Given the description of an element on the screen output the (x, y) to click on. 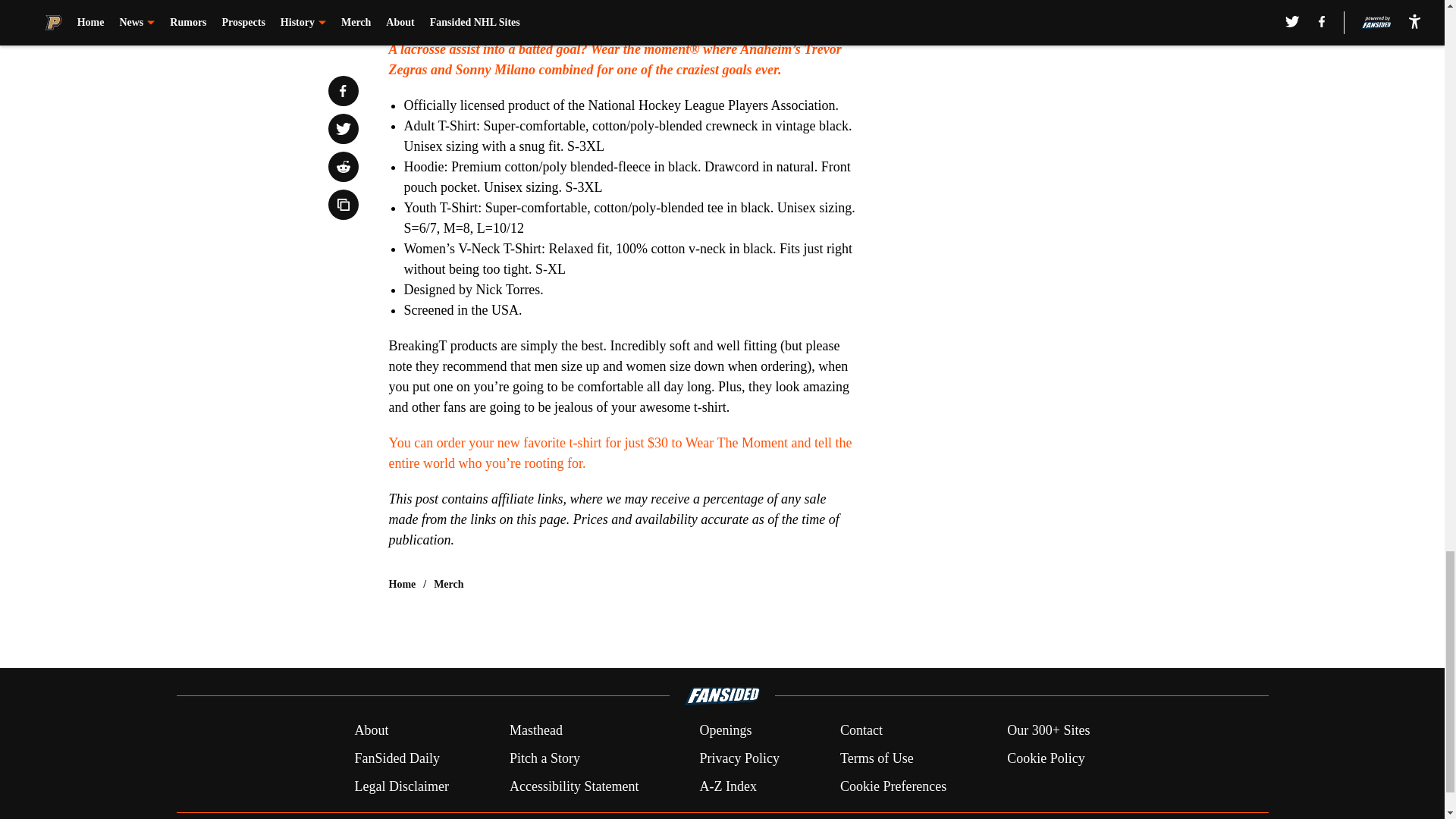
Home (401, 584)
Merch (448, 584)
Masthead (535, 729)
Pitch a Story (544, 758)
FanSided Daily (396, 758)
Terms of Use (877, 758)
Contact (861, 729)
Privacy Policy (738, 758)
Openings (724, 729)
About (370, 729)
